Given the description of an element on the screen output the (x, y) to click on. 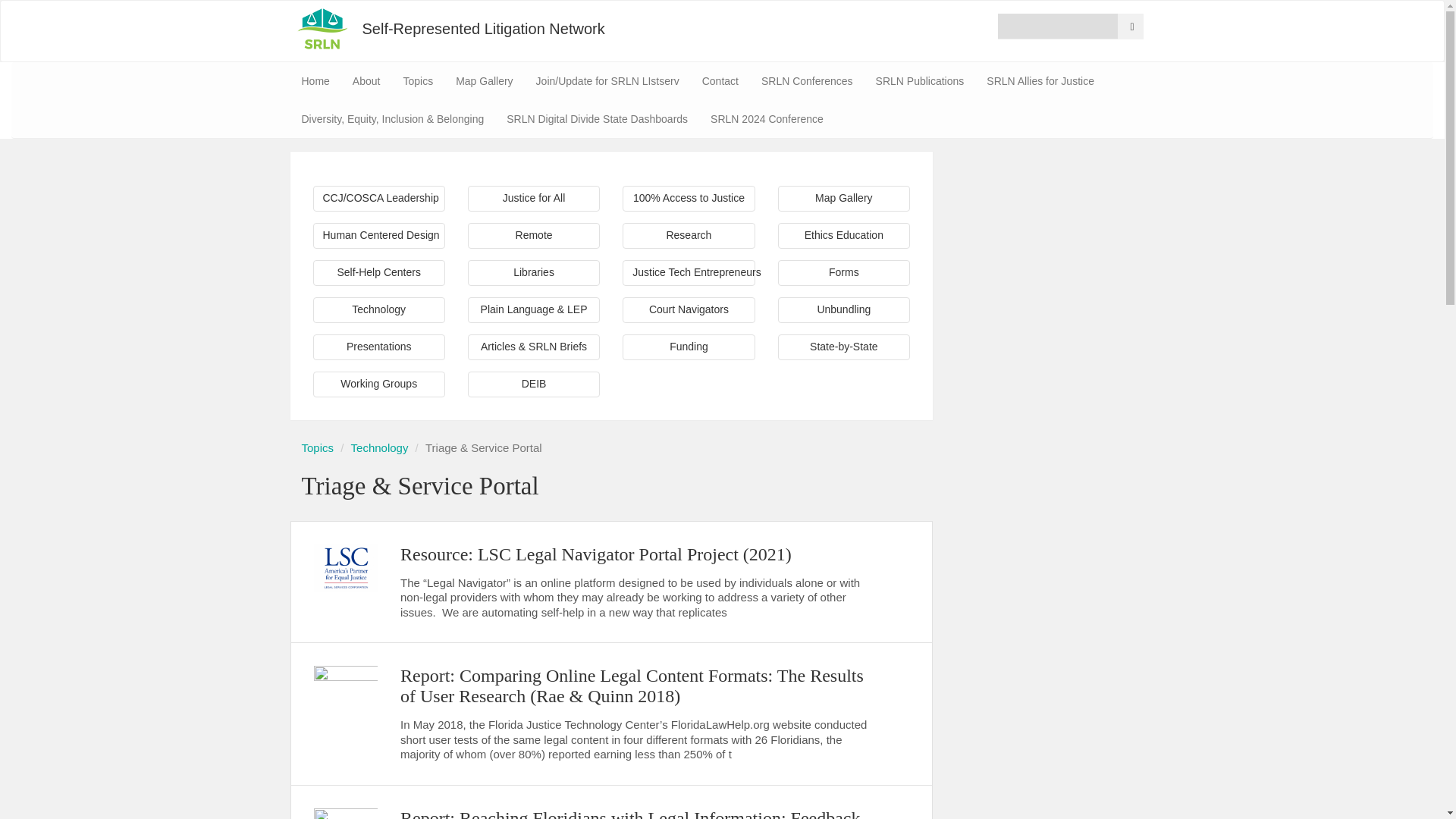
SRLN Allies for Justice (1040, 80)
About (365, 80)
SRLN Conferences (806, 80)
Human Centered Design (378, 235)
Remote (533, 235)
SRLN 2024 Conference (766, 118)
Map Gallery (843, 198)
SRLN Publications (919, 80)
Justice for All (533, 198)
